Given the description of an element on the screen output the (x, y) to click on. 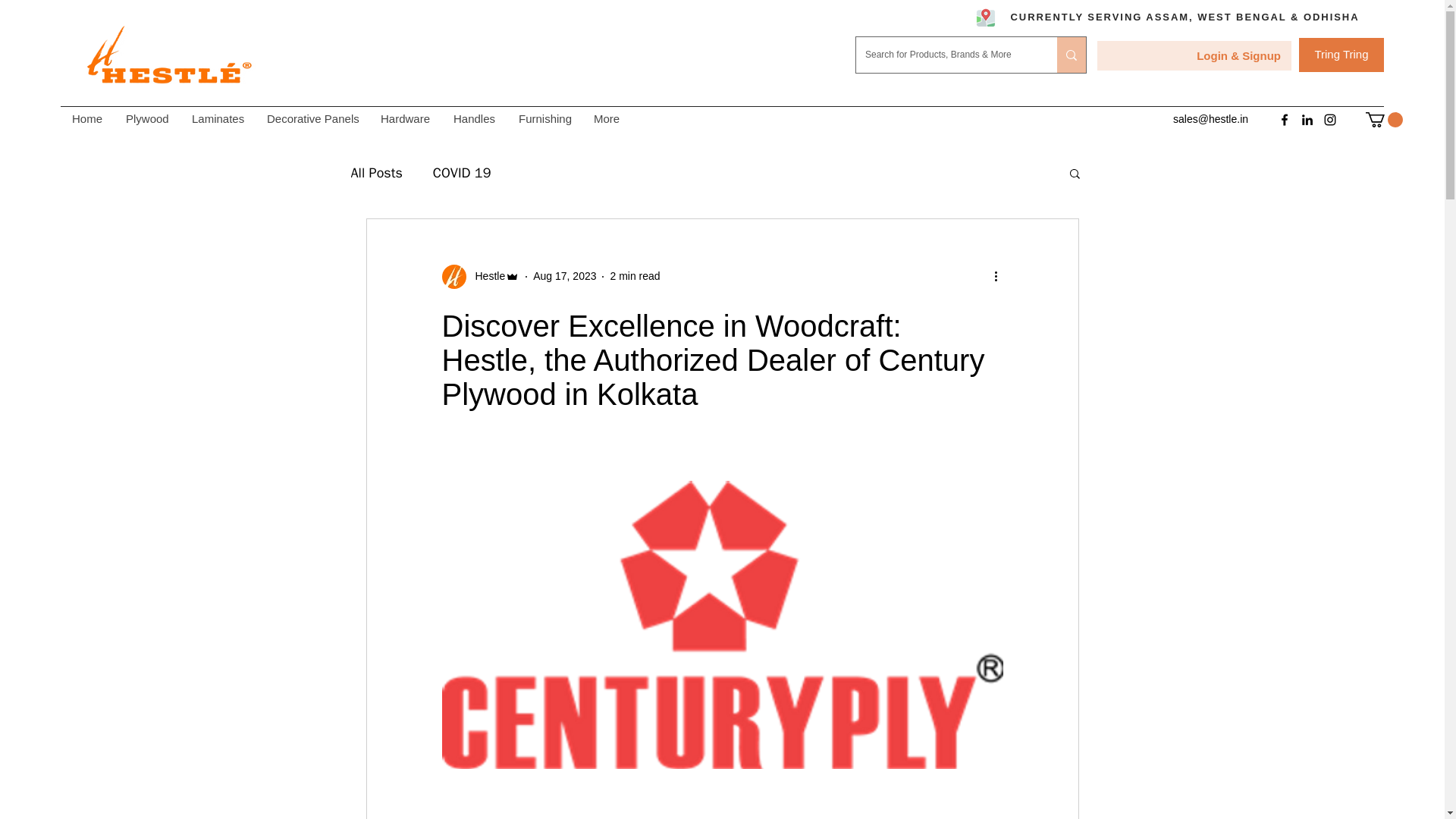
2 min read (634, 275)
Hardware (404, 118)
All Posts (375, 172)
Hestle (480, 276)
Decorative Panels (311, 118)
Handles (473, 118)
Aug 17, 2023 (563, 275)
Tring Tring (1341, 54)
Home (87, 118)
Plywood (146, 118)
